Given the description of an element on the screen output the (x, y) to click on. 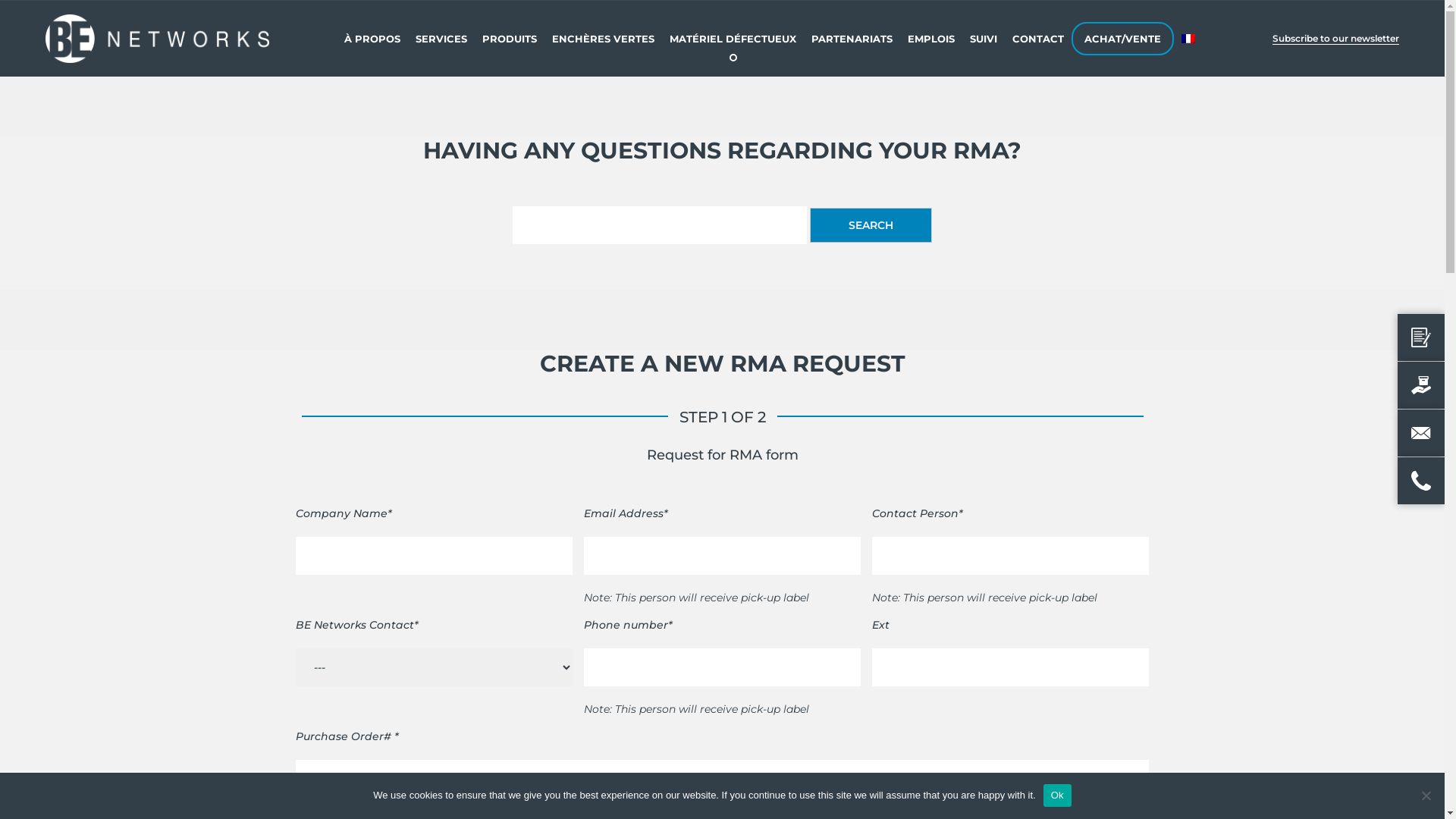
SEARCH Element type: text (870, 224)
Demander un devis Element type: text (1420, 336)
Subscribe to our newsletter Element type: text (1335, 38)
No Element type: hover (1425, 795)
ACHAT/VENTE Element type: text (1122, 38)
Nous appeler Element type: text (1420, 480)
Envoyer un e-mail Element type: text (1420, 432)
PARTENARIATS Element type: text (851, 38)
Vendre votre produit Element type: text (1420, 384)
PRODUITS Element type: text (509, 38)
Ok Element type: text (1057, 795)
EMPLOIS Element type: text (931, 38)
SUIVI Element type: text (983, 38)
SERVICES Element type: text (440, 38)
CONTACT Element type: text (1037, 38)
